Given the description of an element on the screen output the (x, y) to click on. 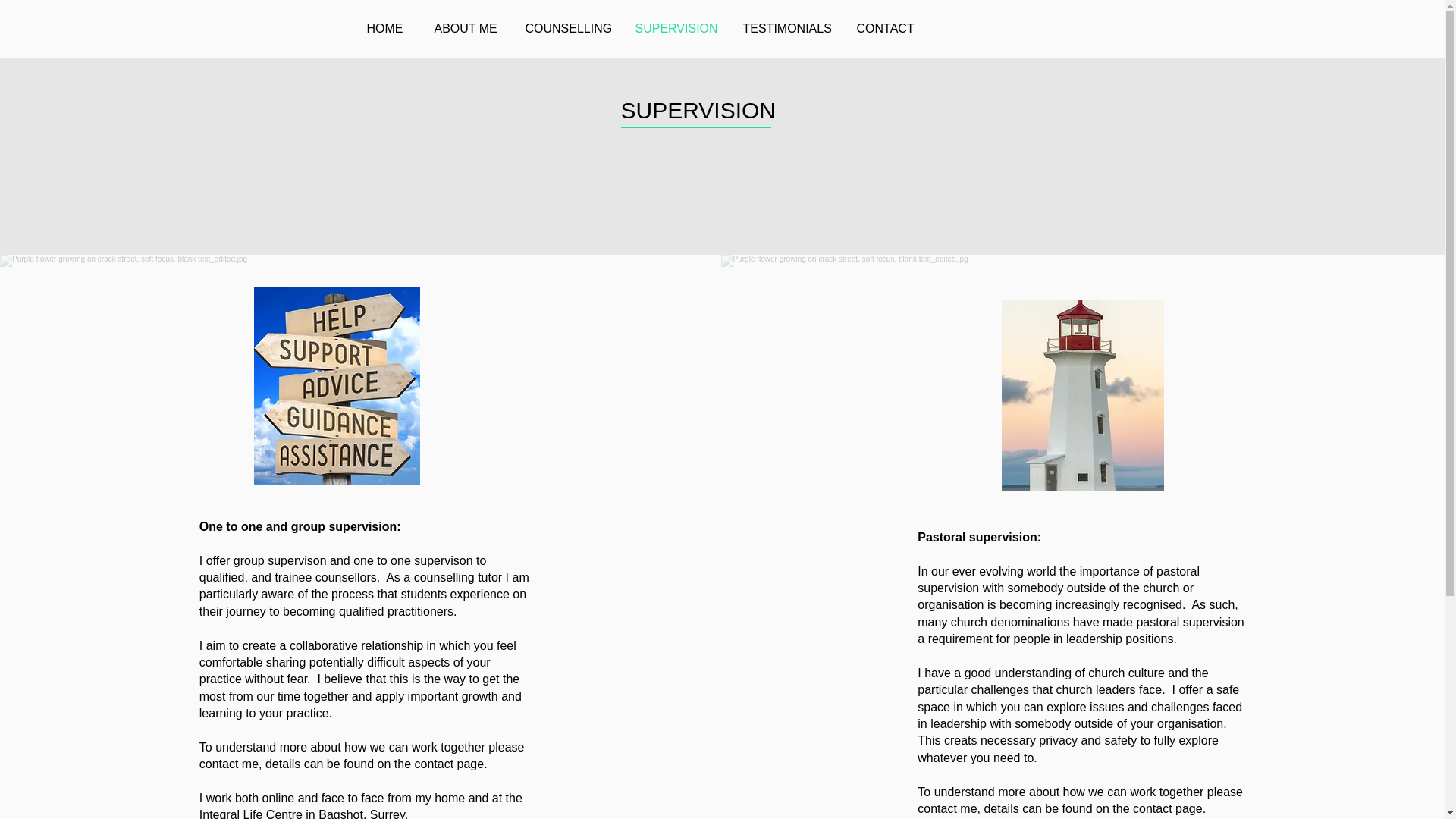
CONTACT (885, 28)
HOME (388, 28)
TESTIMONIALS (787, 28)
COUNSELLING (568, 28)
ABOUT ME (468, 28)
SUPERVISION (676, 28)
